Given the description of an element on the screen output the (x, y) to click on. 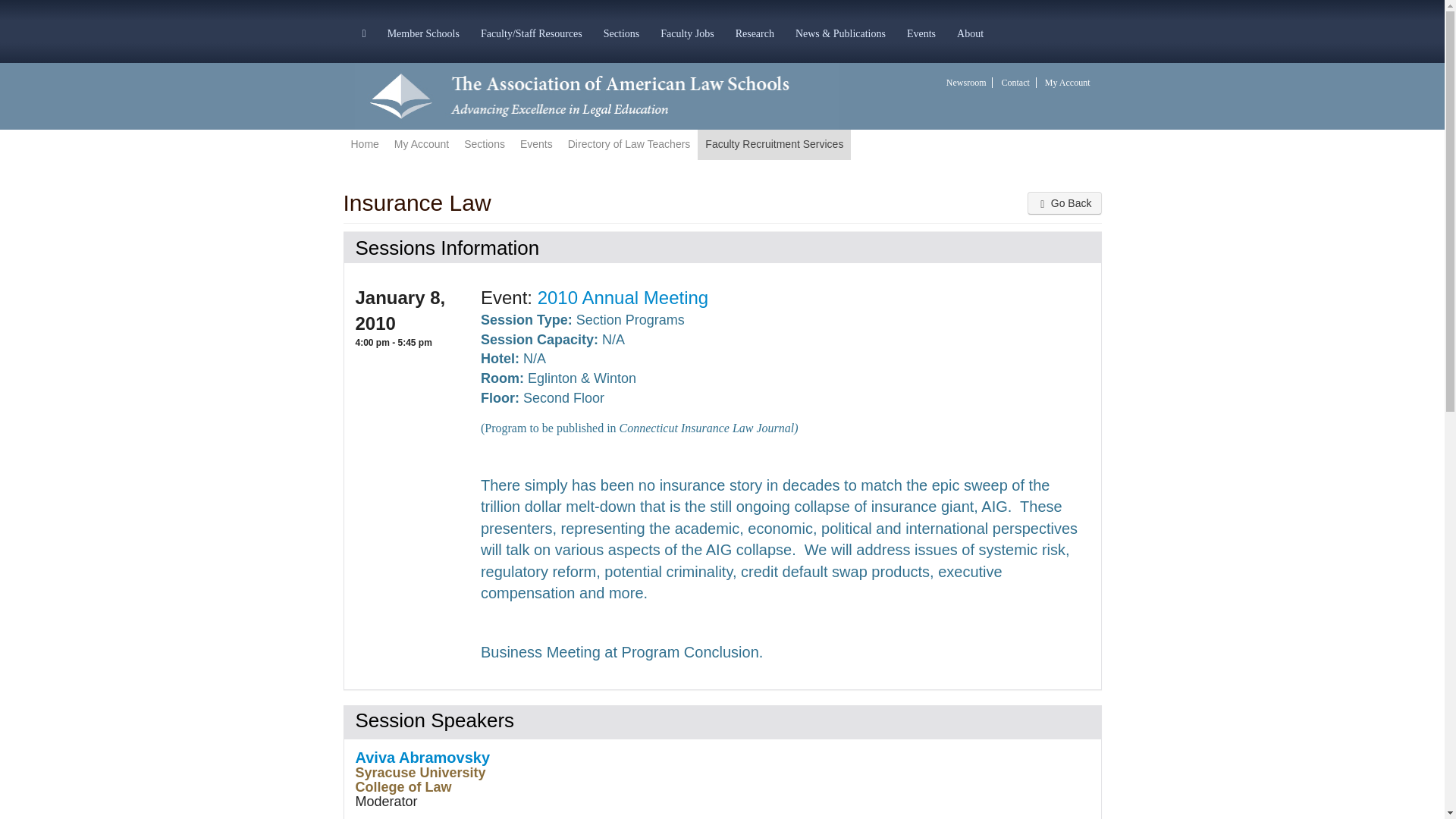
Home (363, 144)
Directory of Law Teachers (629, 144)
Go to the AALS.org home page (596, 95)
Faculty Jobs (686, 31)
Faculty Recruitment Services (773, 144)
Events Top (536, 144)
Member Schools (423, 31)
Sections (484, 144)
My Information (422, 144)
